Given the description of an element on the screen output the (x, y) to click on. 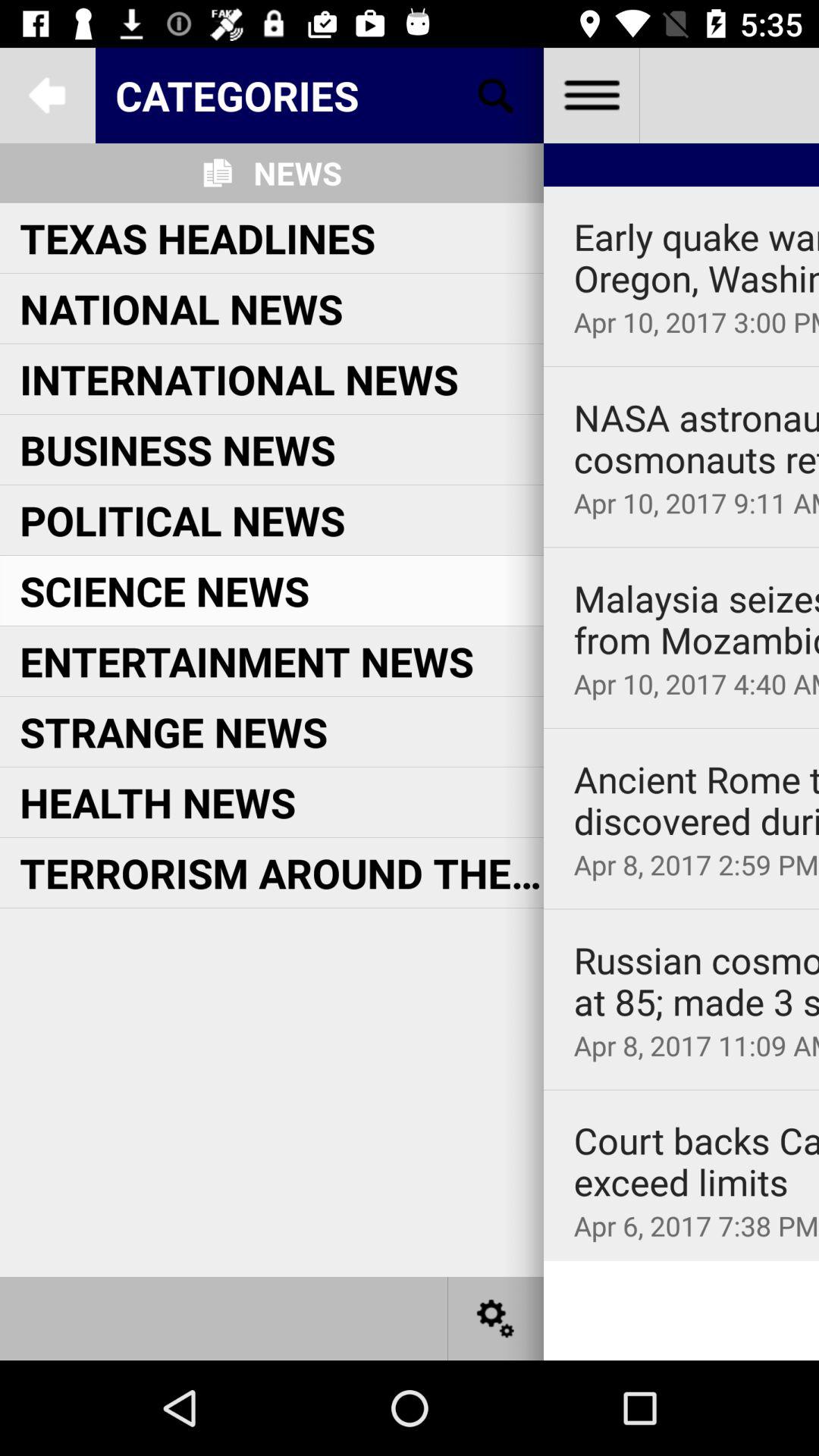
show adjustments (495, 1318)
